Given the description of an element on the screen output the (x, y) to click on. 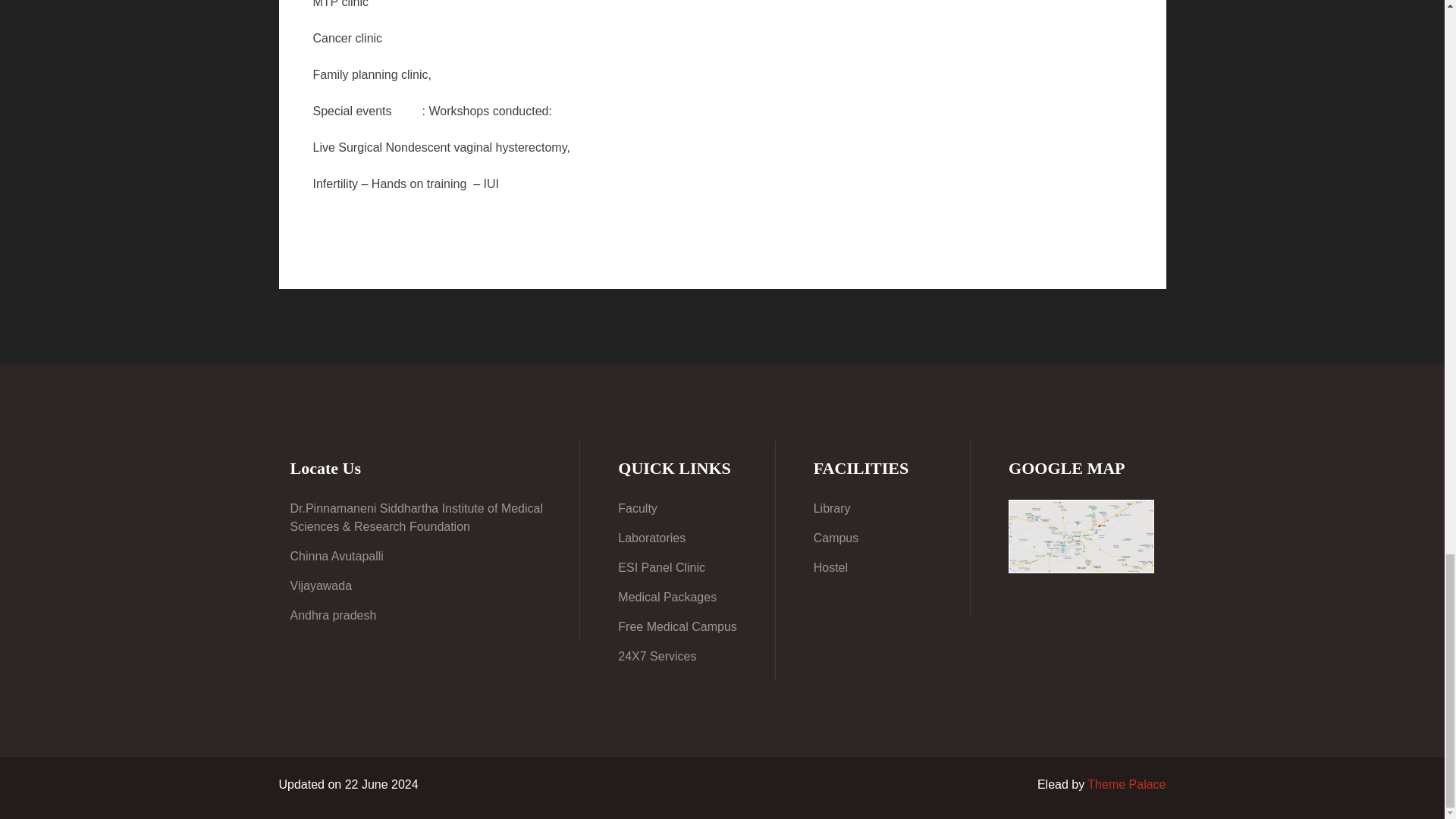
GOOGLE MAP (1081, 536)
